Given the description of an element on the screen output the (x, y) to click on. 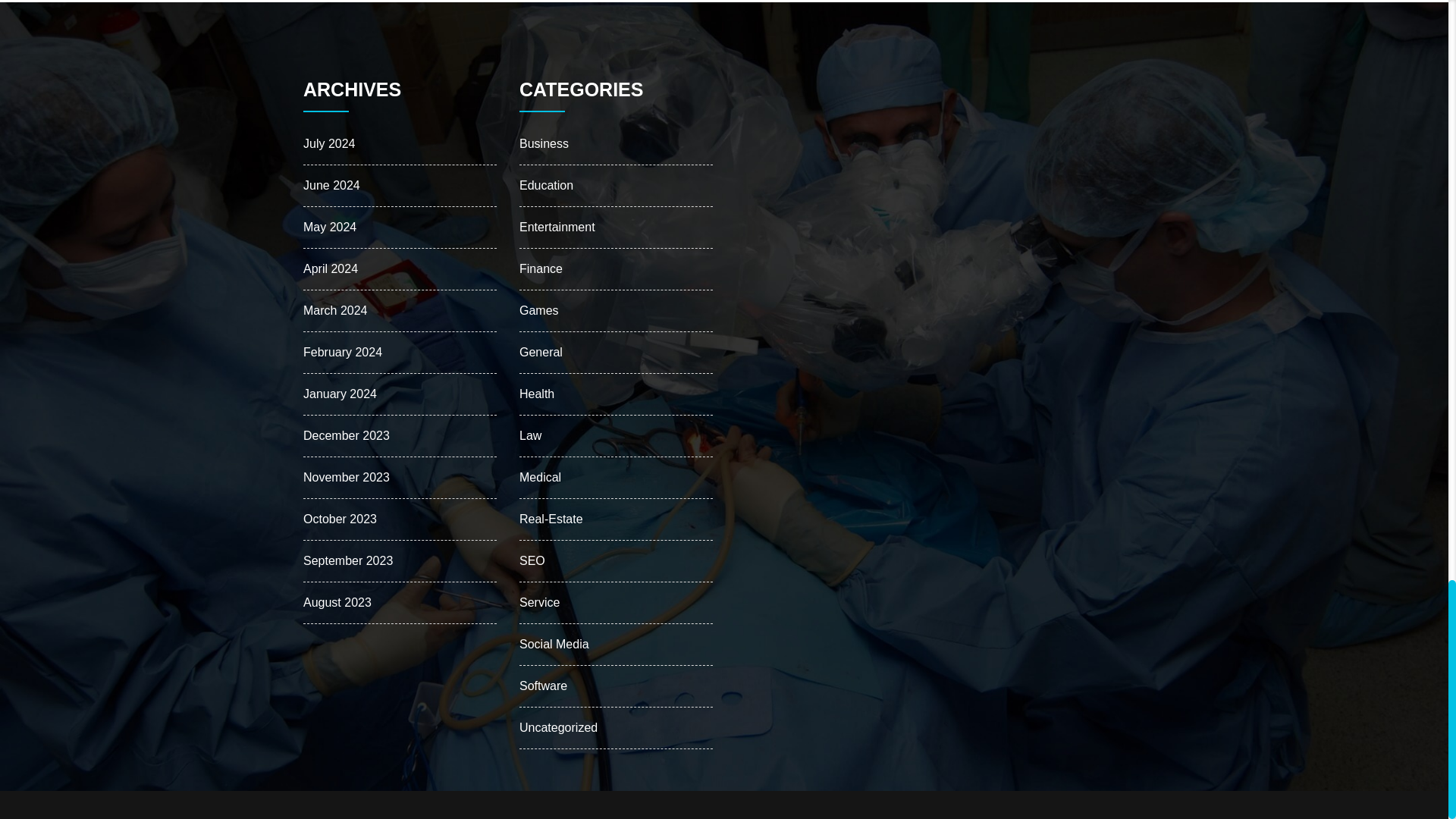
July 2024 (328, 143)
